Given the description of an element on the screen output the (x, y) to click on. 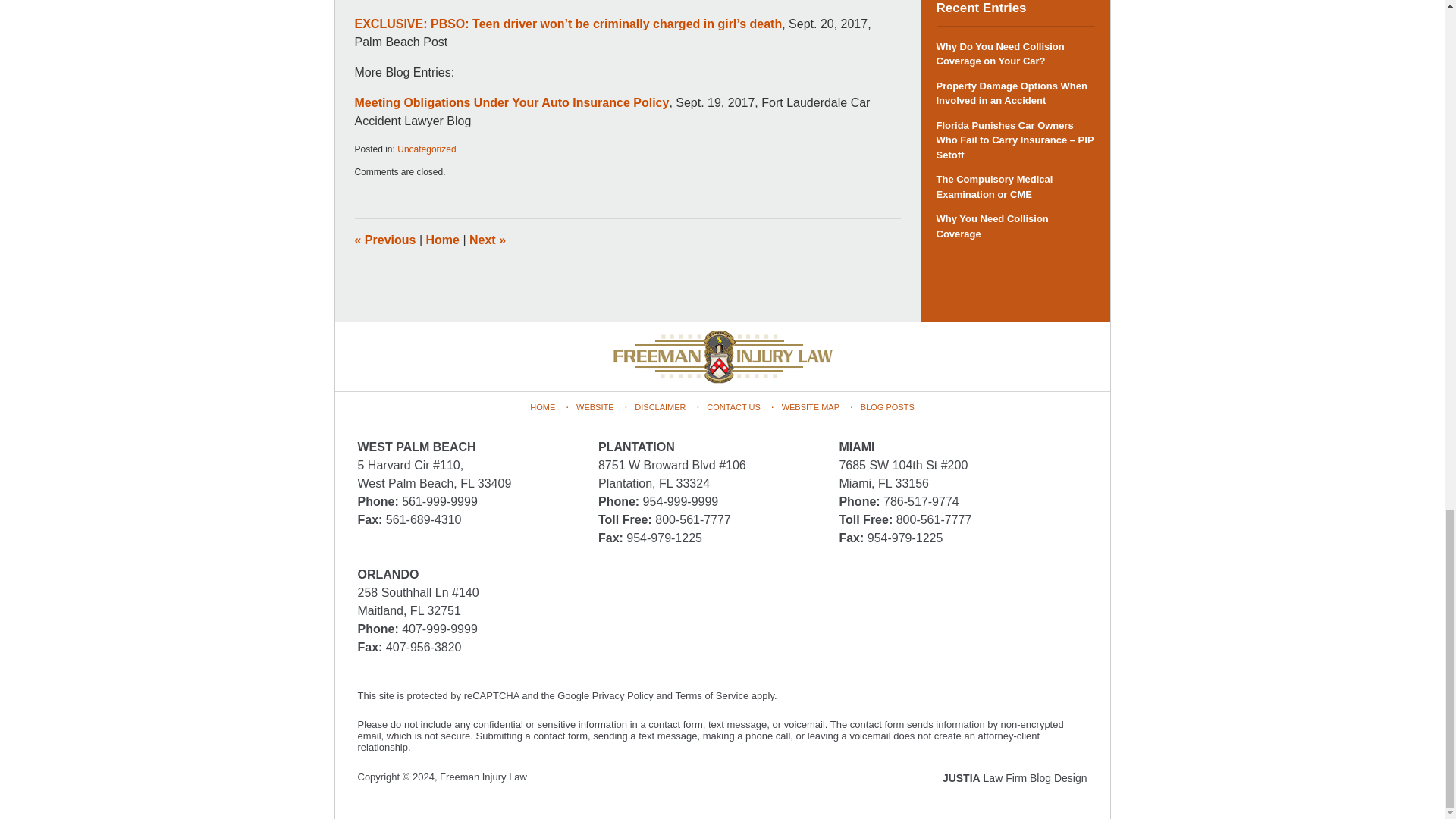
Meeting Obligations Under Your Auto Insurance Policy (512, 102)
View all posts in Uncategorized (426, 149)
Comparative Negligence in Florida Pedestrian Accidents (486, 239)
Home (443, 239)
Uncategorized (426, 149)
